Given the description of an element on the screen output the (x, y) to click on. 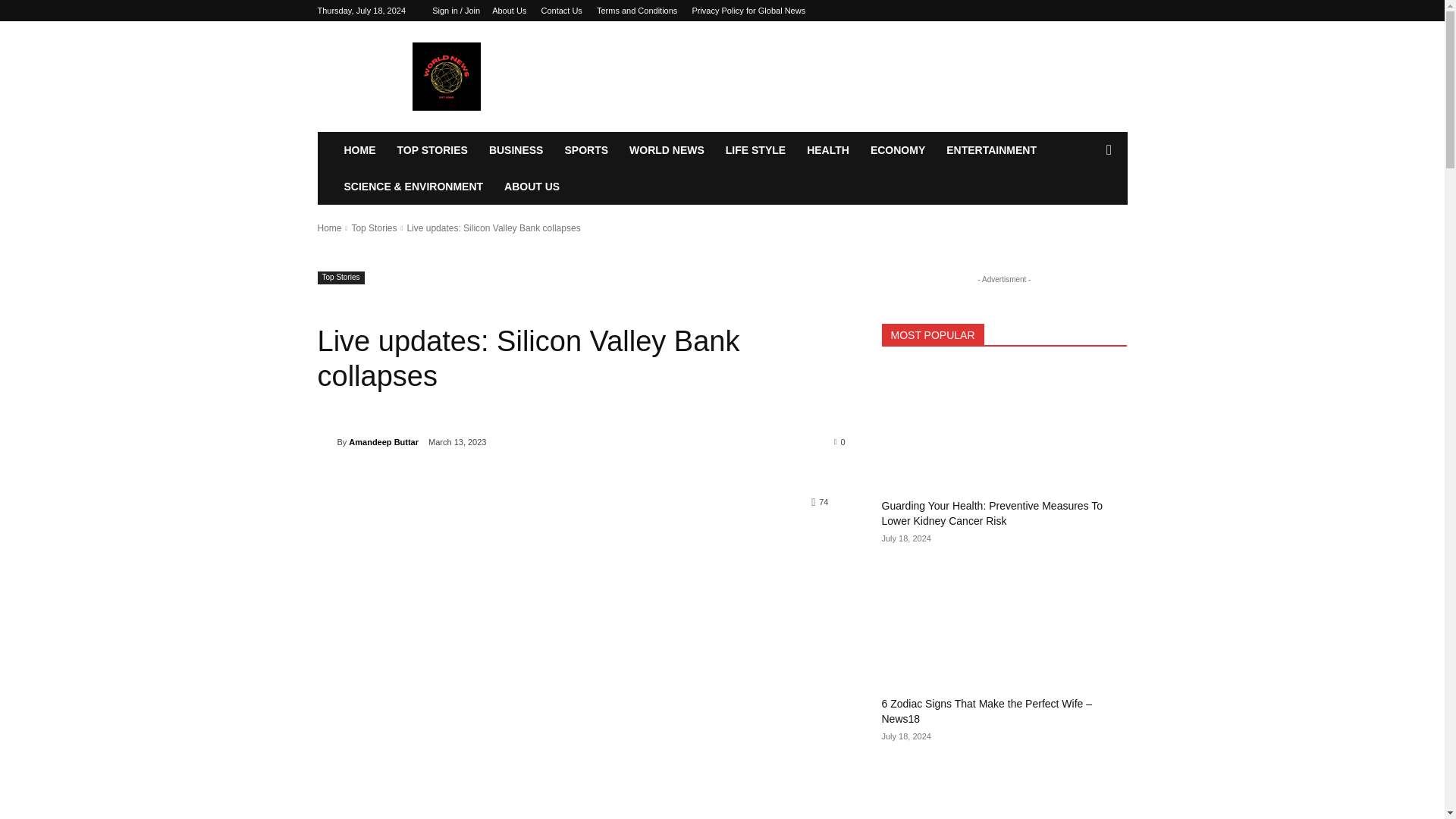
TOP STORIES (433, 149)
About Us (508, 10)
HOME (360, 149)
Contact Us (560, 10)
Terms and Conditions (636, 10)
BUSINESS (516, 149)
Privacy Policy for Global News (748, 10)
